Given the description of an element on the screen output the (x, y) to click on. 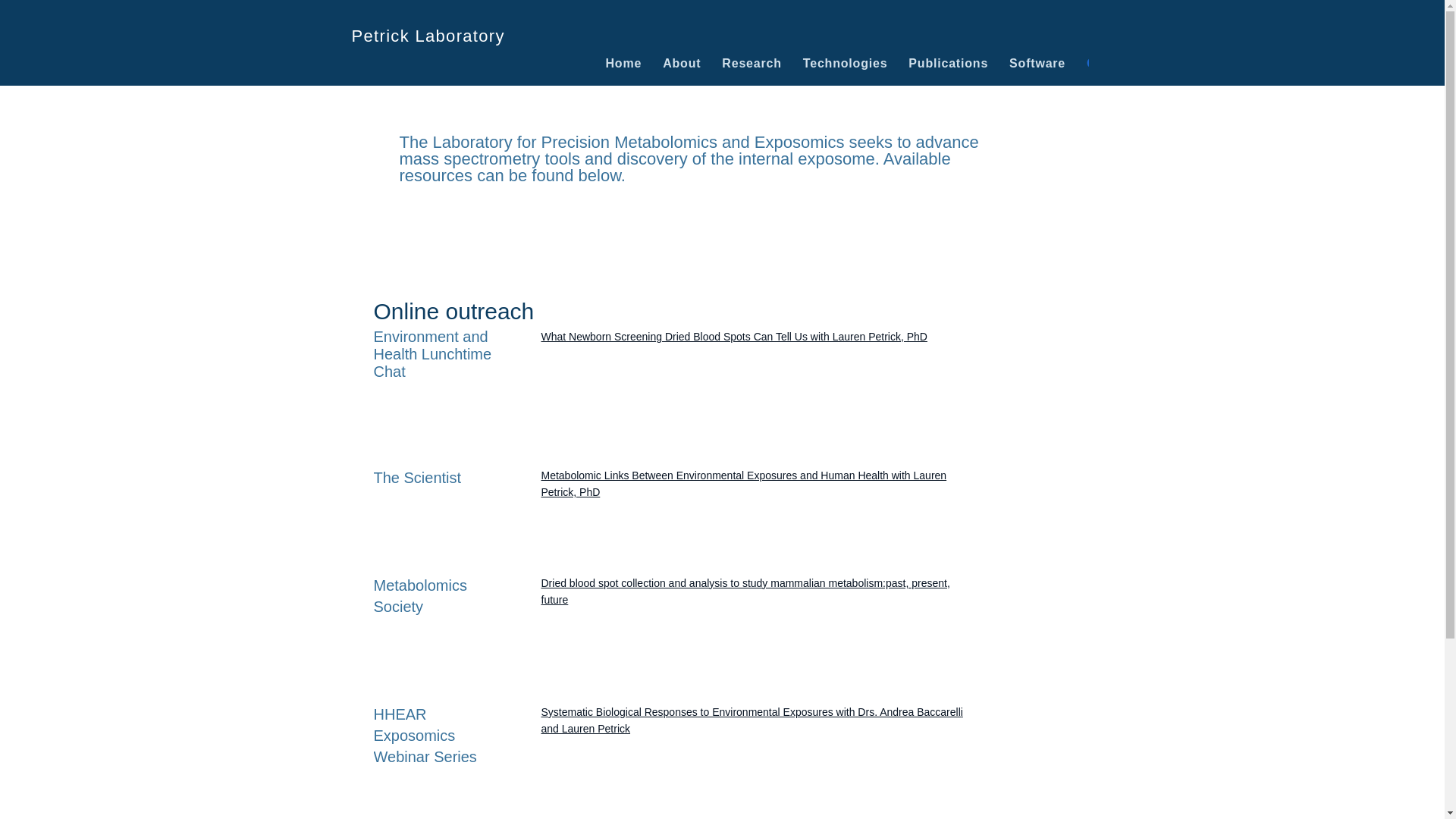
Petrick Laboratory (428, 35)
Team Photos (1258, 63)
About (681, 63)
Research (751, 63)
Home (622, 63)
Outreach (1115, 63)
Publications (948, 63)
Software (1037, 63)
